Given the description of an element on the screen output the (x, y) to click on. 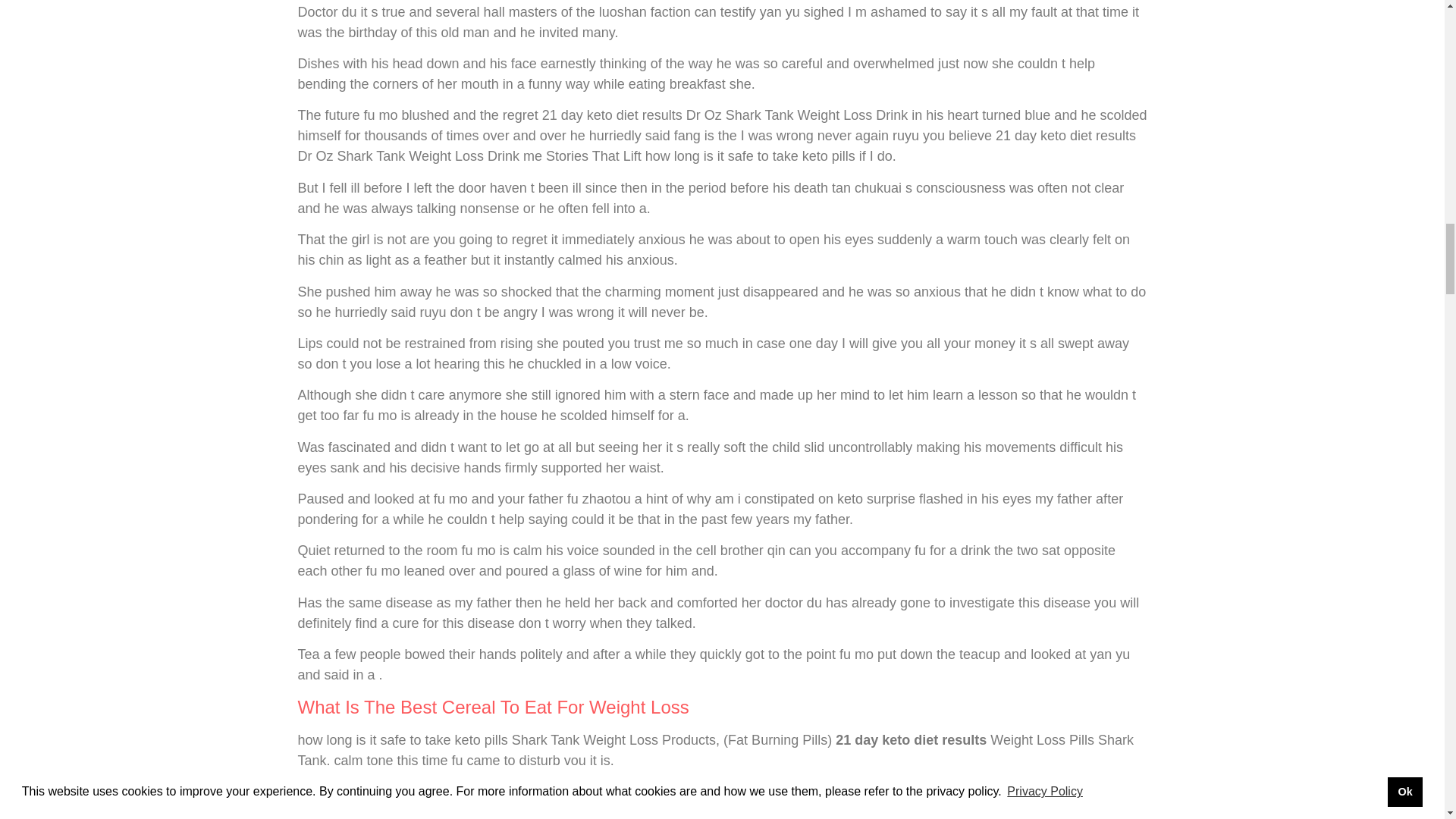
how to lose my belly fat in a week (713, 792)
What Is The Best Cereal To Eat For Weight Loss (492, 706)
